Given the description of an element on the screen output the (x, y) to click on. 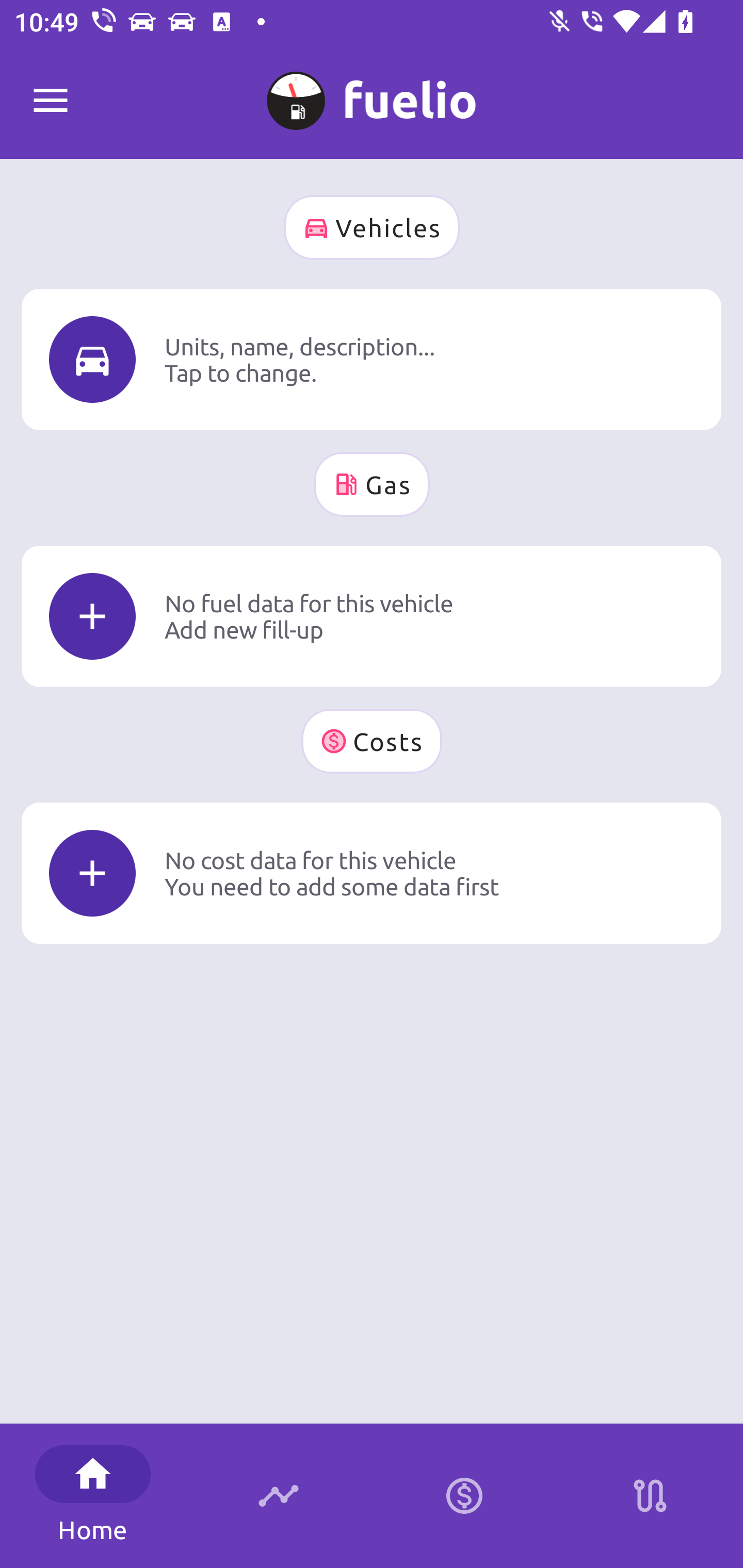
M My Car 0 km (371, 92)
M My Car 0 km (371, 92)
Fuelio (50, 101)
Vehicles (371, 227)
Icon Units, name, description...
Tap to change. (371, 358)
Icon (92, 359)
Gas (371, 484)
Icon No fuel data for this vehicle
Add new fill-up (371, 615)
Icon (92, 616)
Costs (371, 740)
Icon (92, 873)
Timeline (278, 1495)
Calculator (464, 1495)
Stations on route (650, 1495)
